Given the description of an element on the screen output the (x, y) to click on. 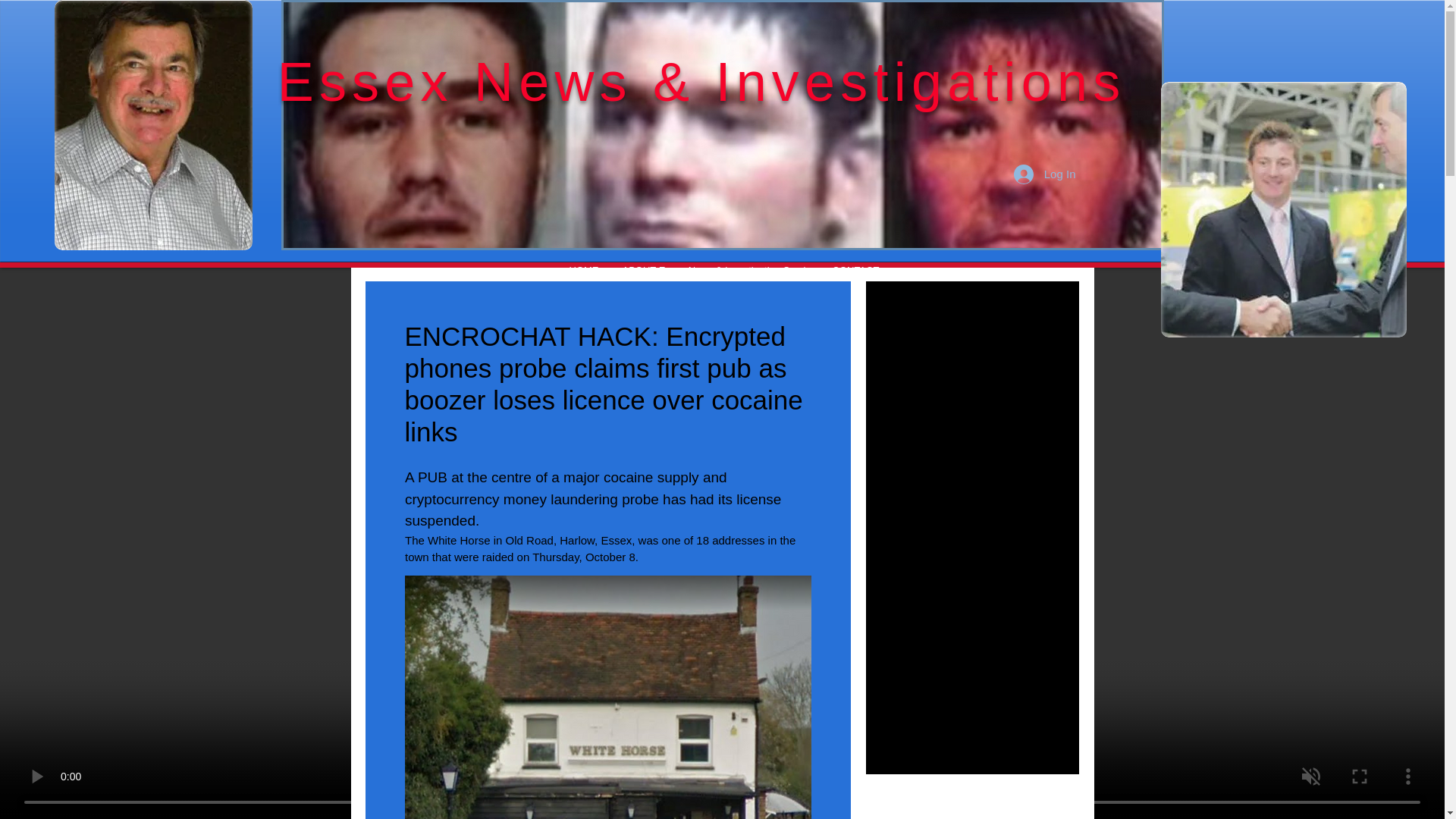
Log In (1044, 173)
